Given the description of an element on the screen output the (x, y) to click on. 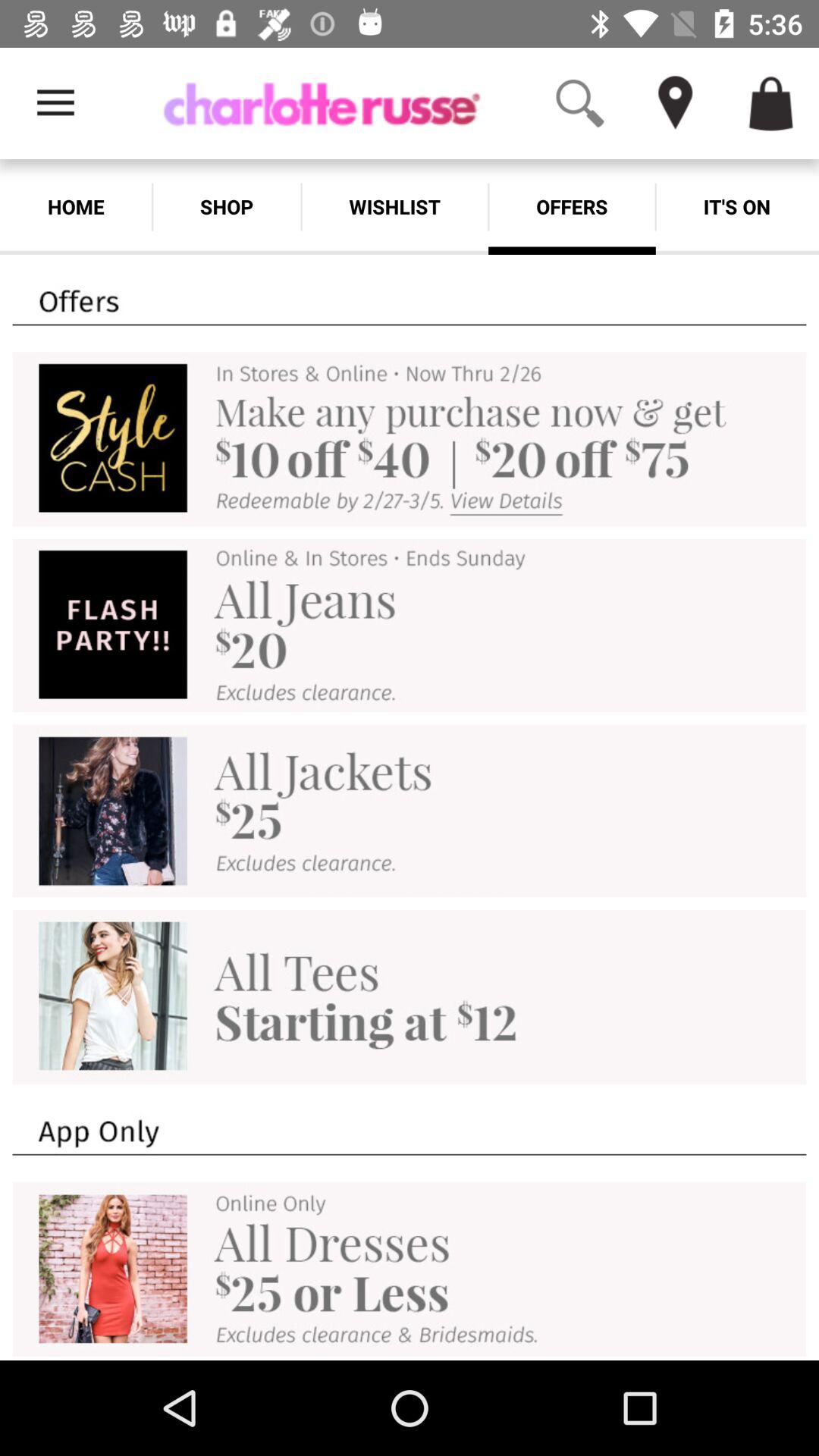
scroll to it's on (736, 206)
